Given the description of an element on the screen output the (x, y) to click on. 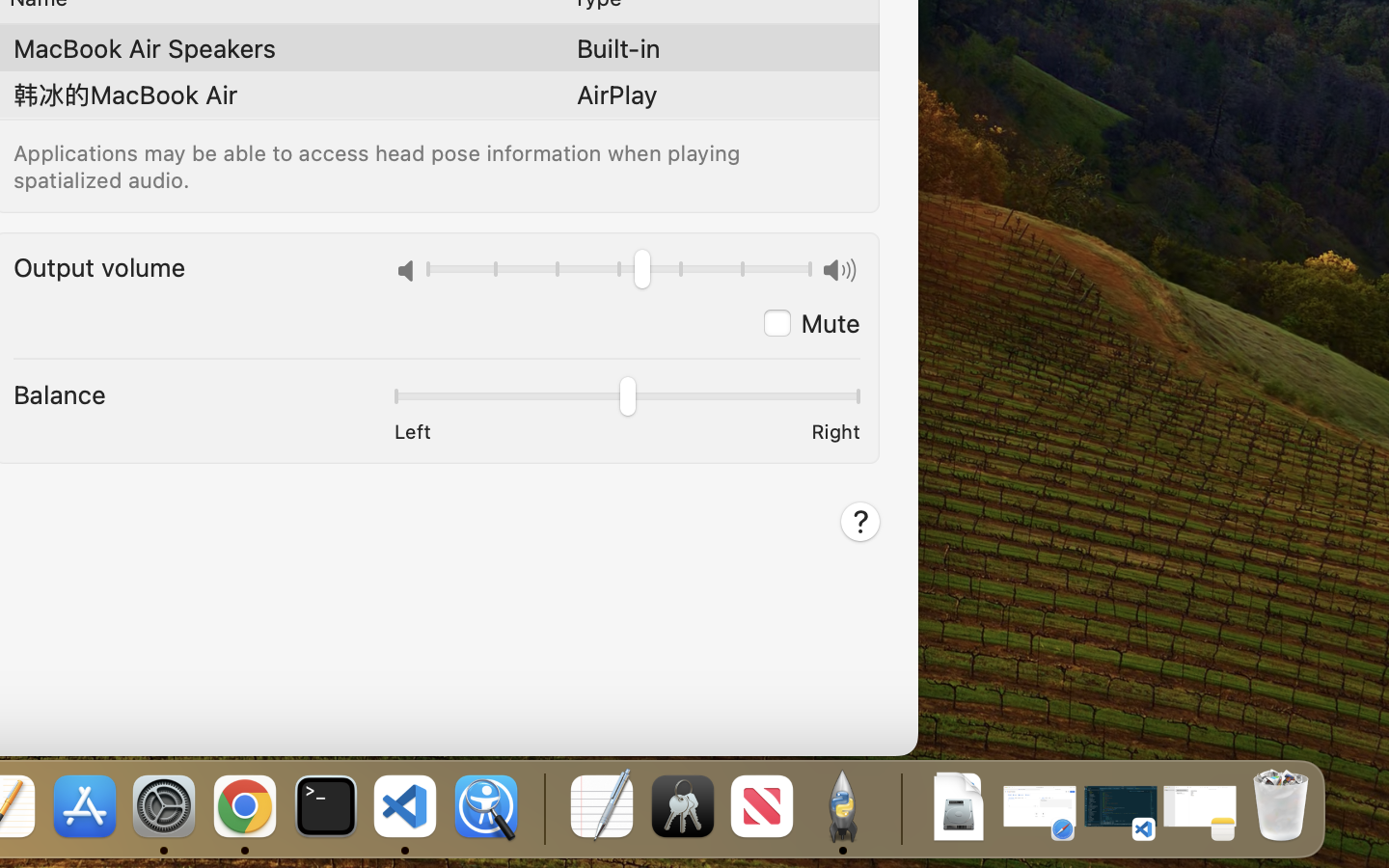
0.5 Element type: AXSlider (625, 399)
